Given the description of an element on the screen output the (x, y) to click on. 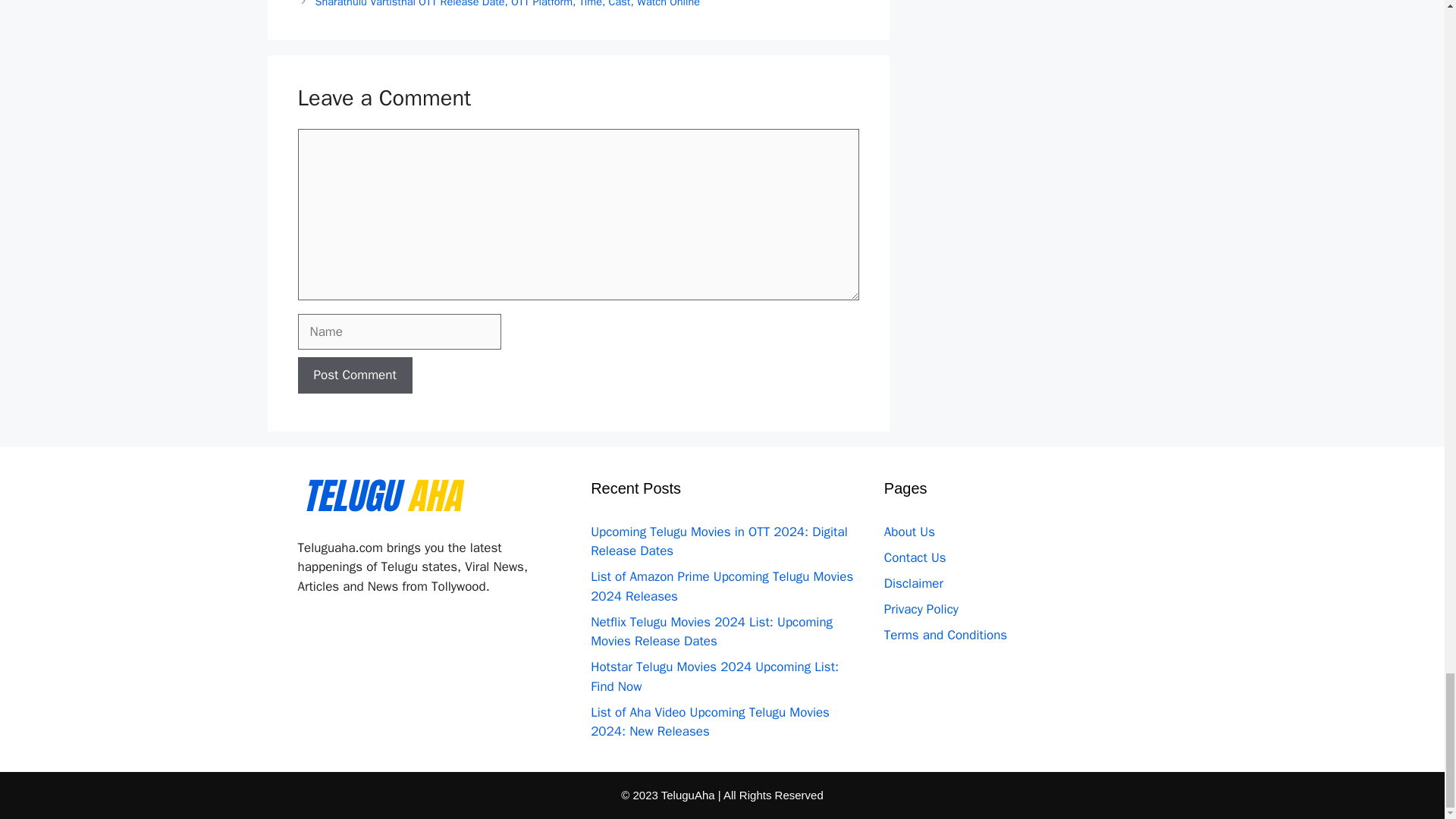
Post Comment (354, 375)
Post Comment (354, 375)
